Given the description of an element on the screen output the (x, y) to click on. 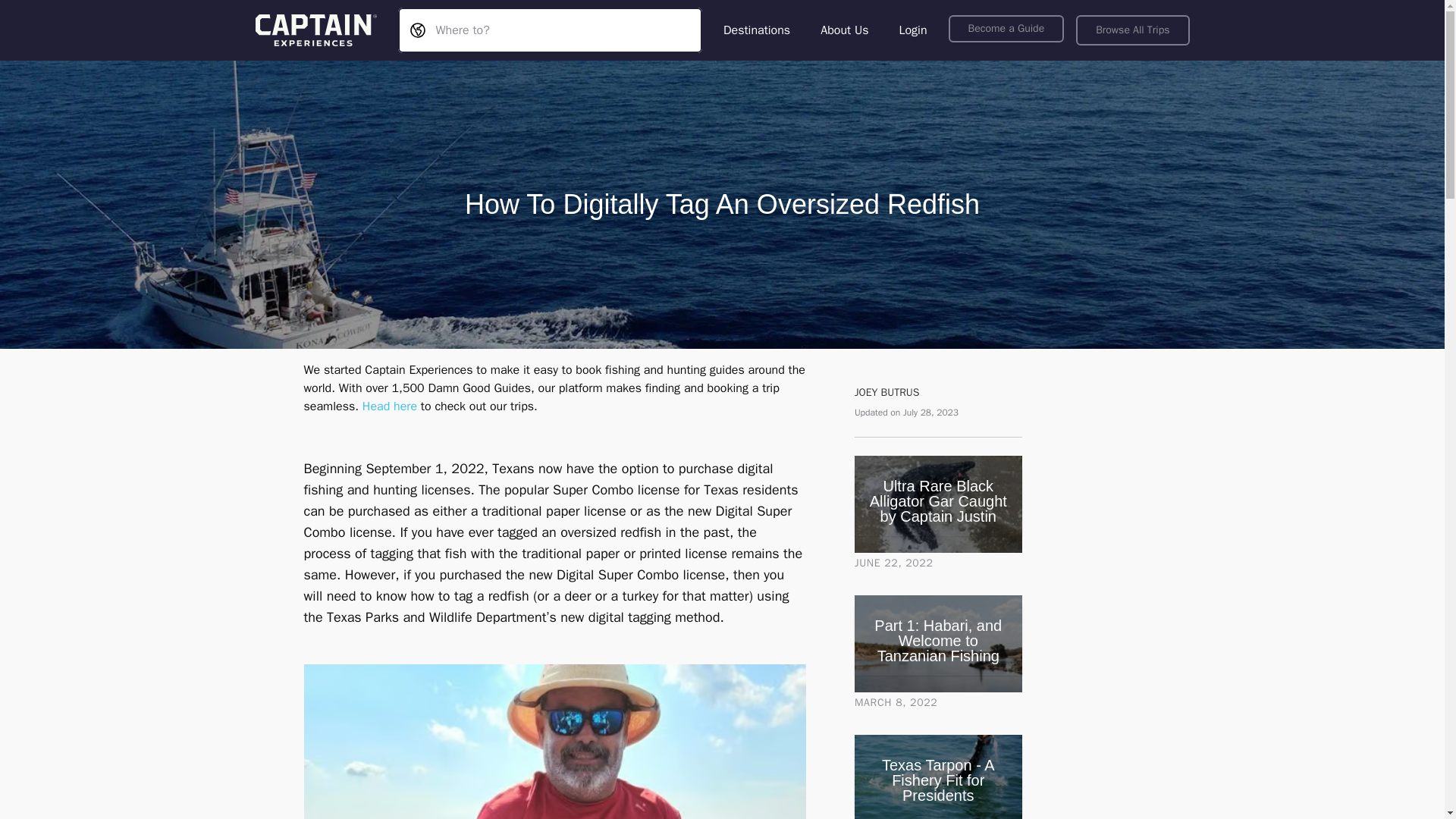
Ultra Rare Black Alligator Gar Caught by Captain Justin (938, 501)
Texas Tarpon - A Fishery Fit for Presidents (938, 776)
Become a Guide (1006, 28)
Browse All Trips (1132, 30)
Texas Tarpon - A Fishery Fit for Presidents (938, 779)
Part 1: Habari, and Welcome to Tanzanian Fishing (938, 640)
Head here (389, 406)
Destinations (756, 30)
Big Redfish In Galveston Texas (553, 741)
Ultra Rare Black Alligator Gar Caught by Captain Justin (938, 503)
